Given the description of an element on the screen output the (x, y) to click on. 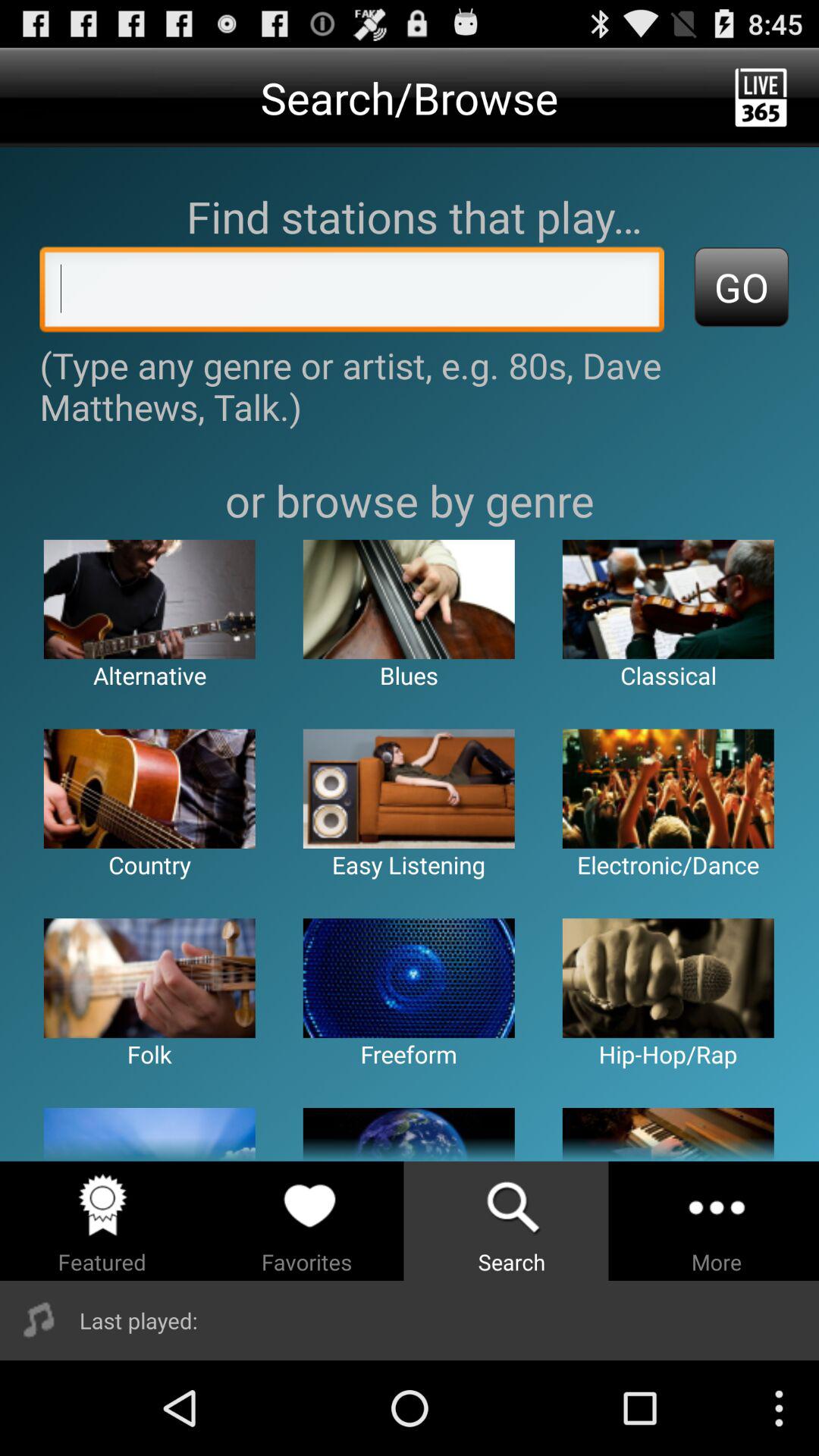
turn off the go item (741, 287)
